Given the description of an element on the screen output the (x, y) to click on. 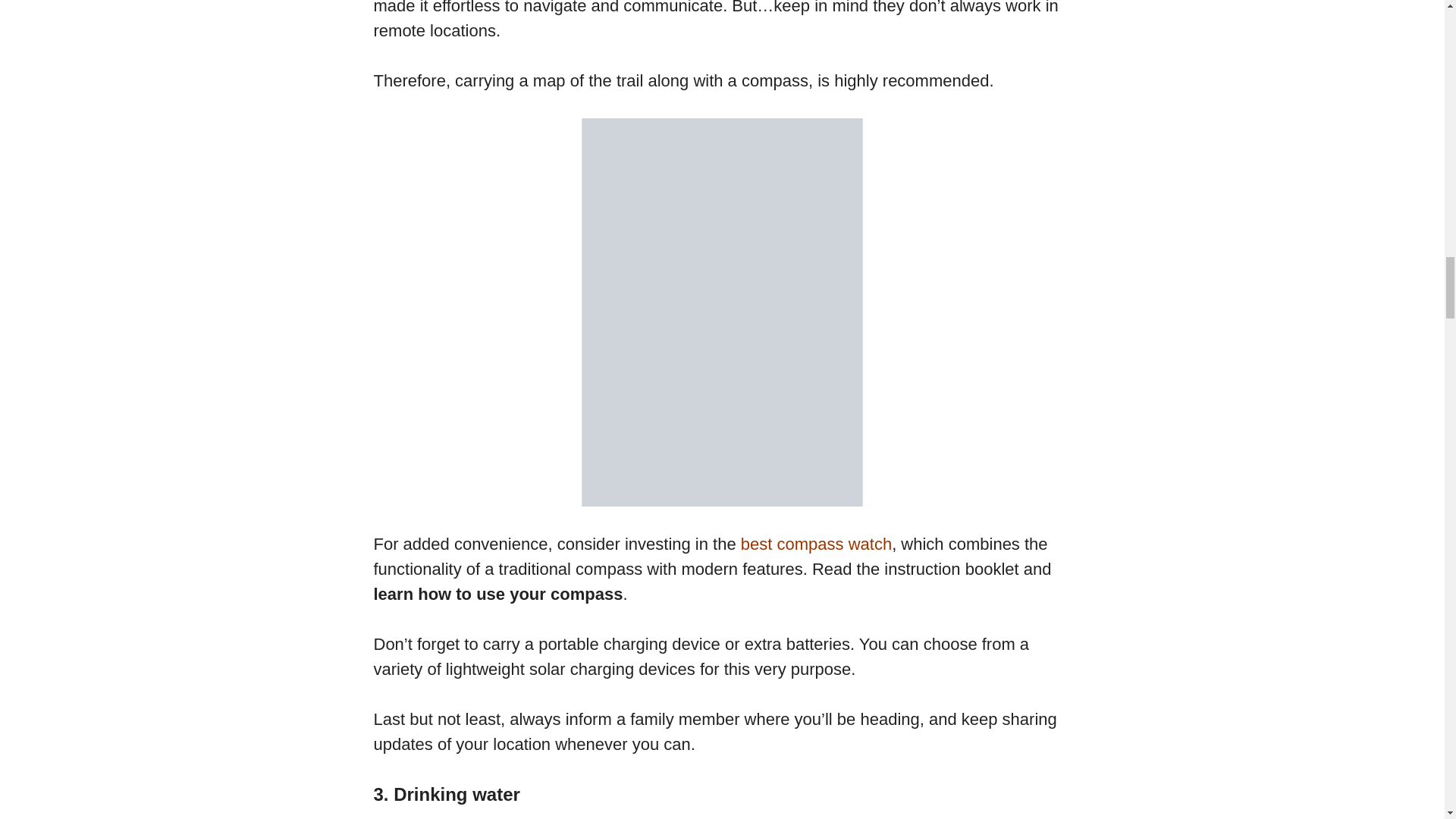
best compass watch (816, 543)
